Given the description of an element on the screen output the (x, y) to click on. 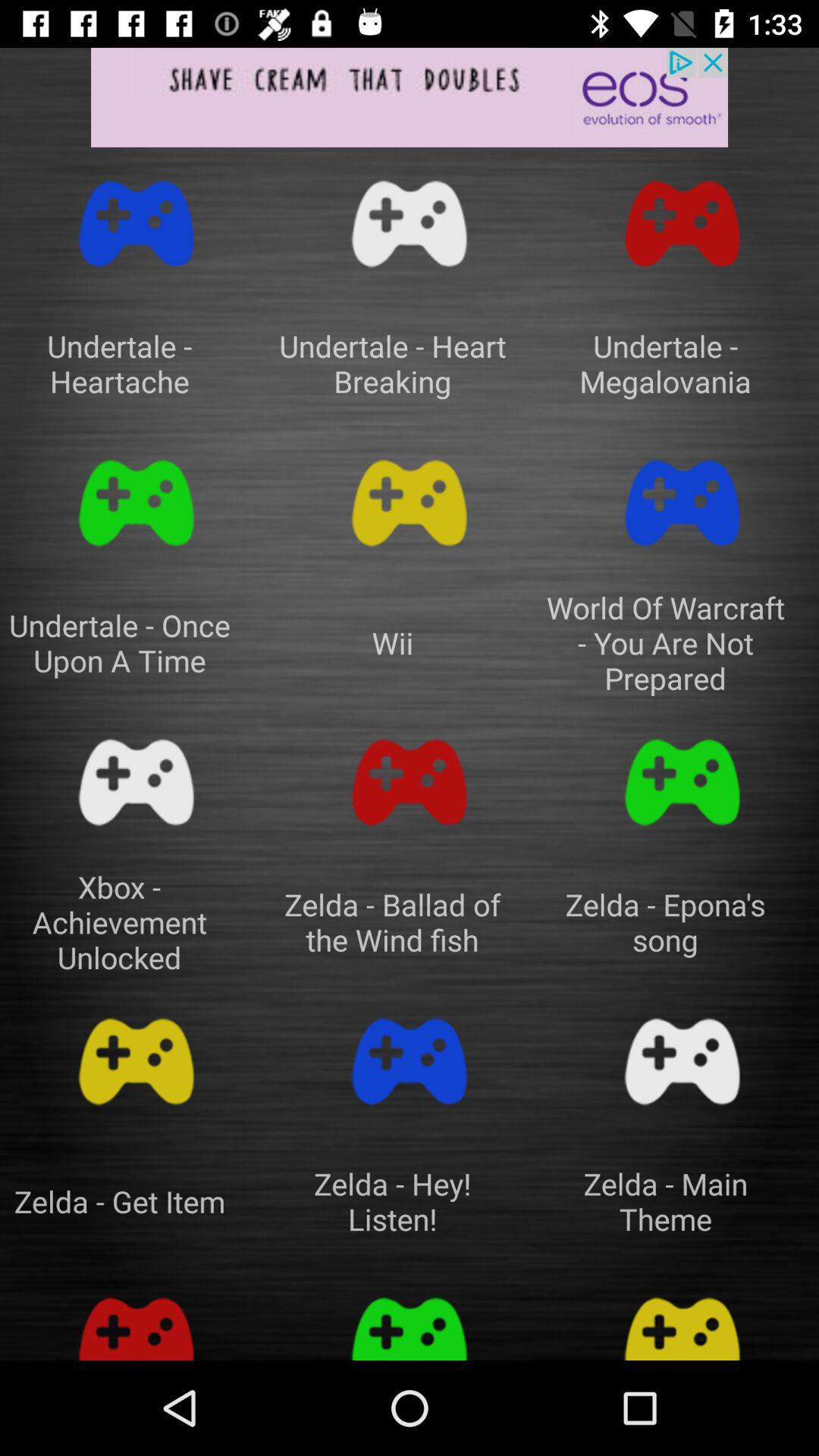
zelda-main theme for video games (682, 1061)
